Given the description of an element on the screen output the (x, y) to click on. 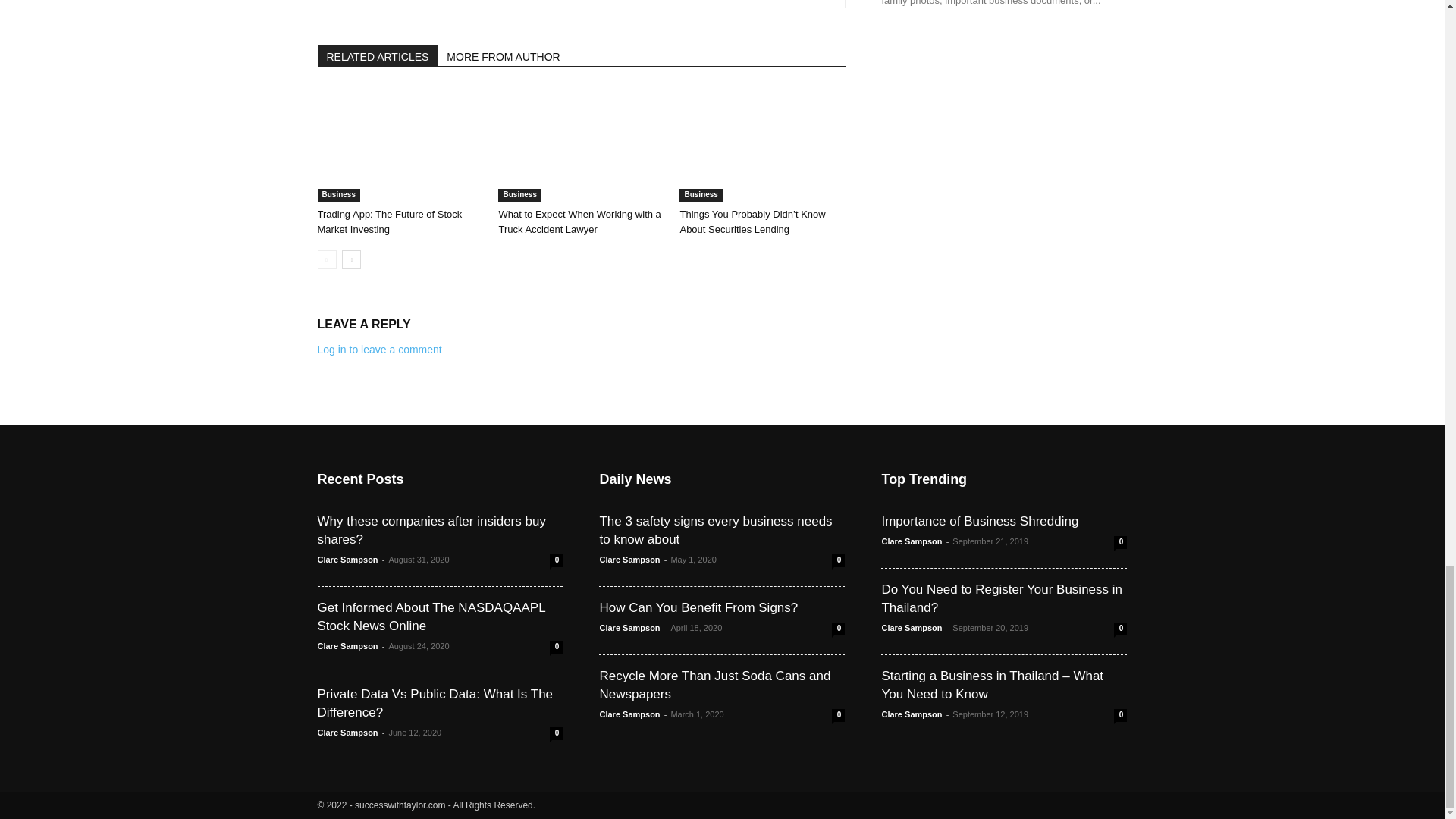
Trading App: The Future of Stock Market Investing (389, 221)
What to Expect When Working with a Truck Accident Lawyer (580, 144)
Trading App: The Future of Stock Market Investing (399, 144)
